Given the description of an element on the screen output the (x, y) to click on. 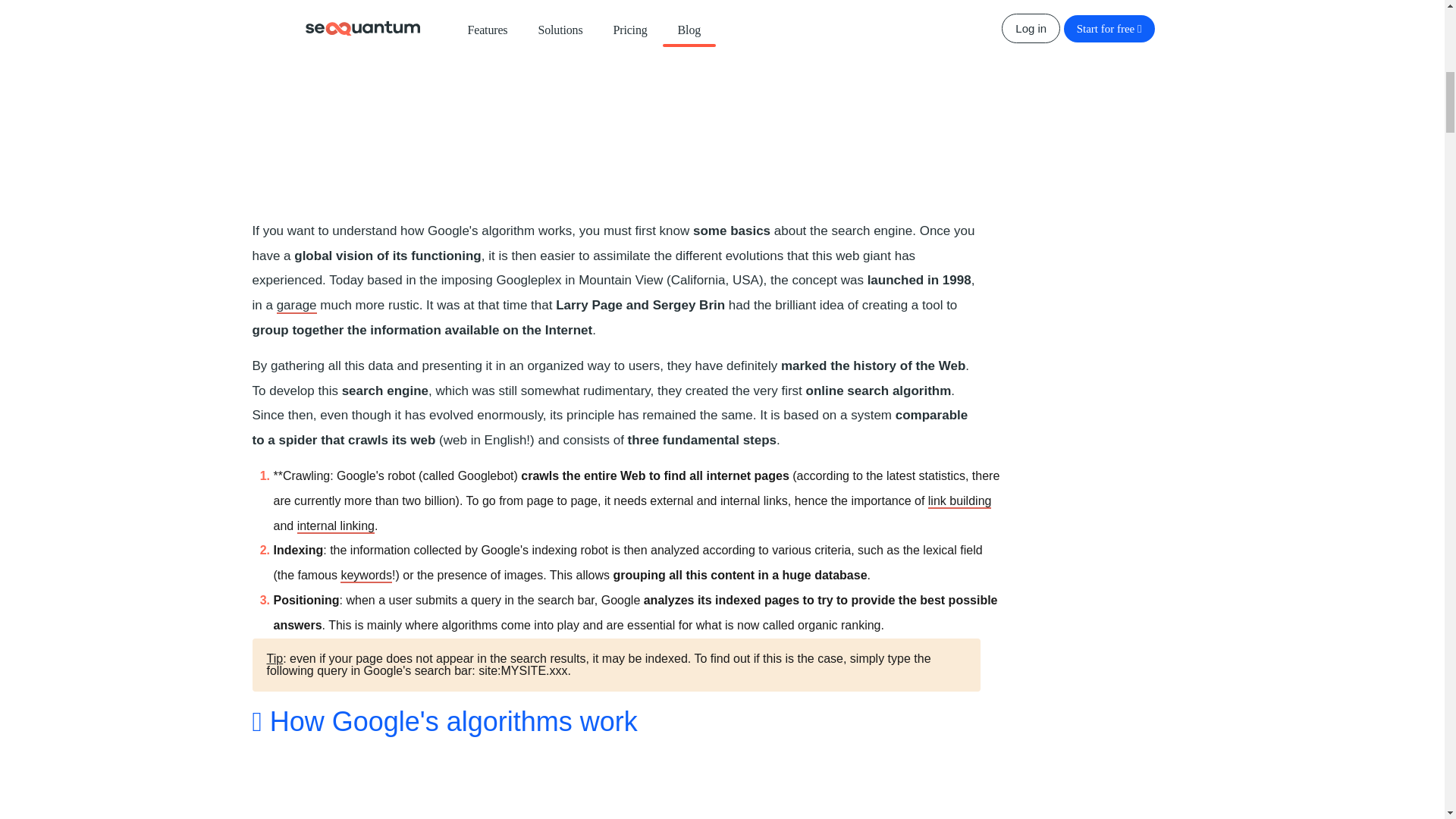
internal linking (335, 526)
keywords (365, 575)
link building (959, 501)
garage (296, 305)
